Given the description of an element on the screen output the (x, y) to click on. 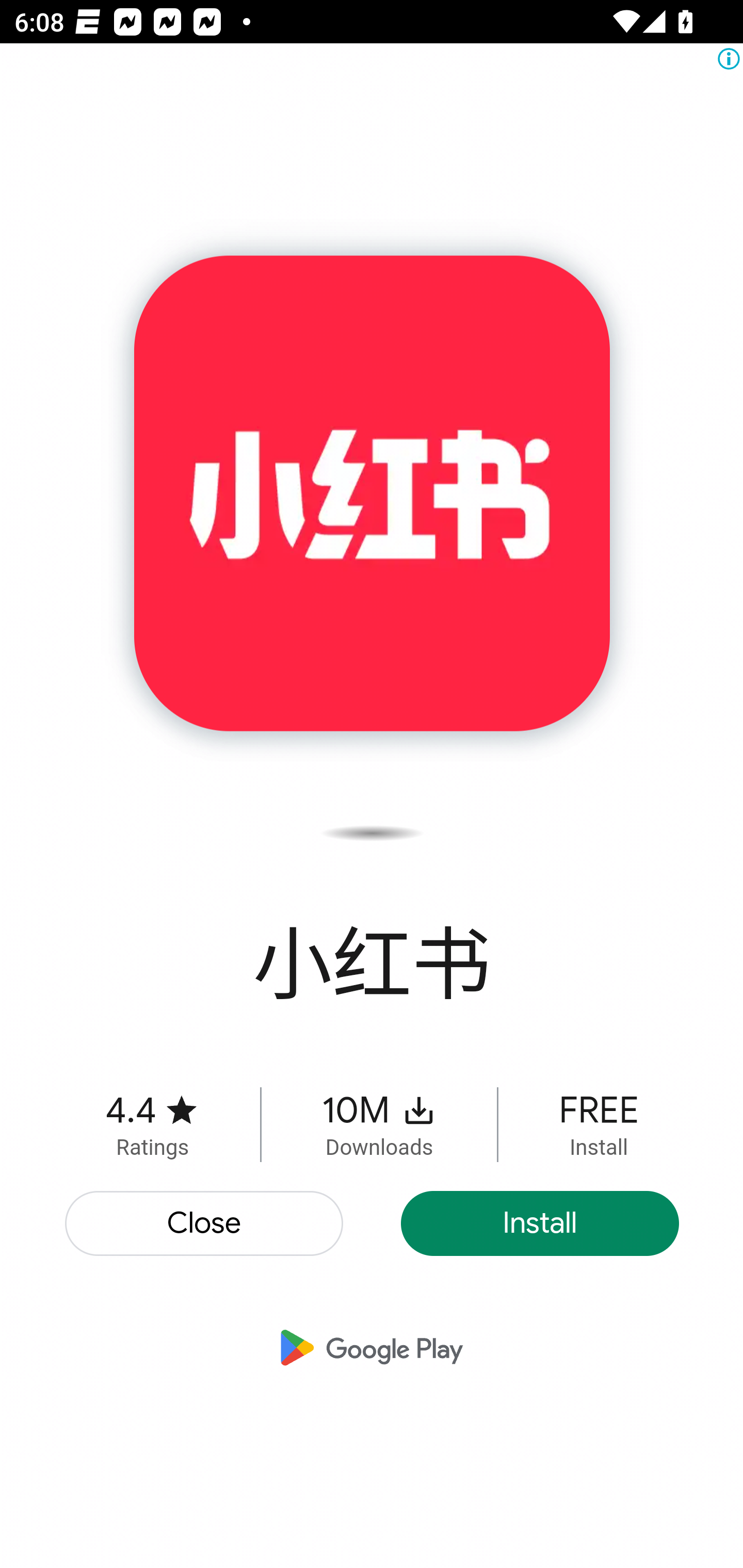
Close (204, 1222)
Install (539, 1222)
